Given the description of an element on the screen output the (x, y) to click on. 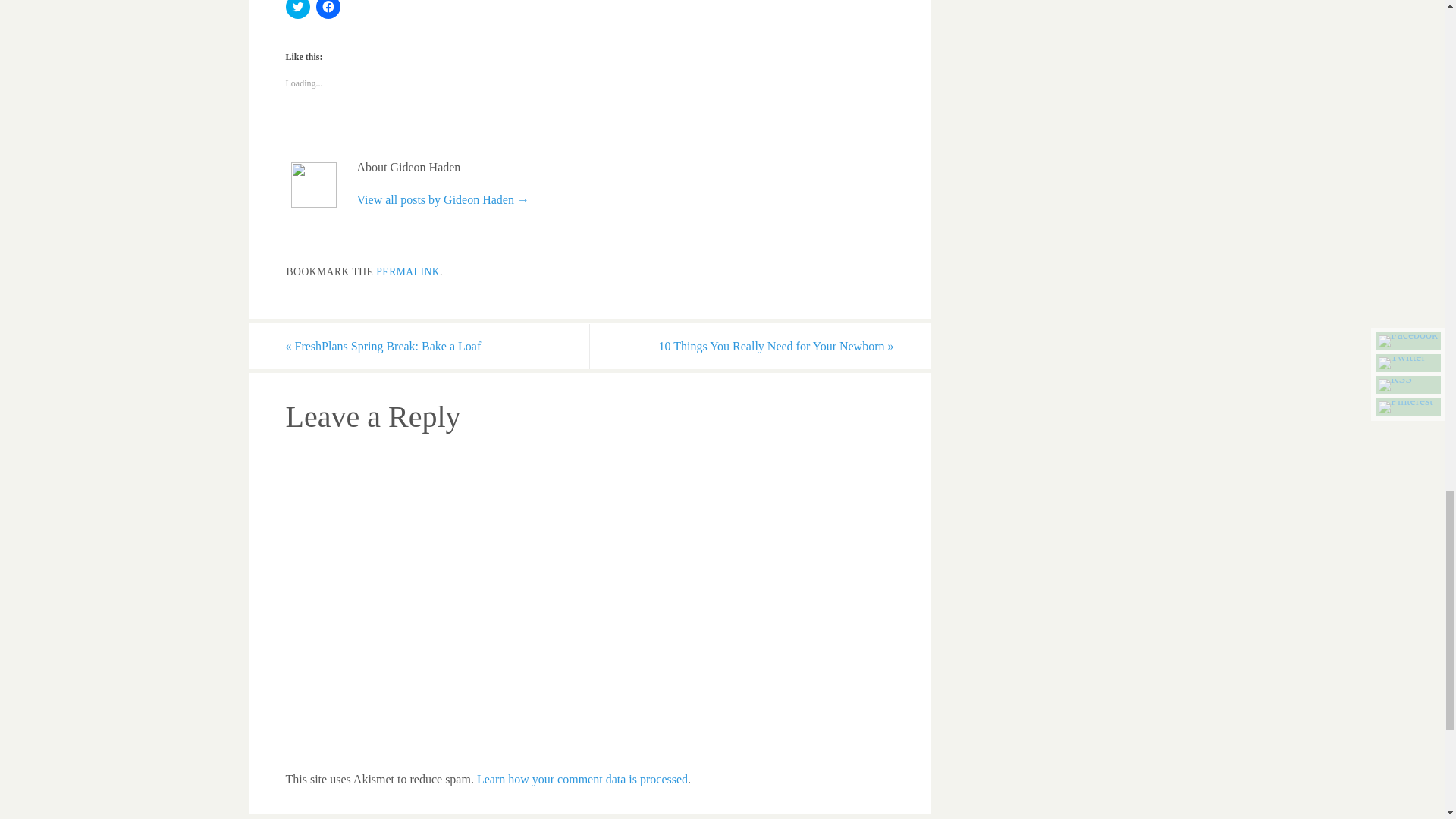
PERMALINK (407, 271)
Click to share on Twitter (296, 9)
Permalink to Fresh Easter Baskets (407, 271)
Click to share on Facebook (327, 9)
